Given the description of an element on the screen output the (x, y) to click on. 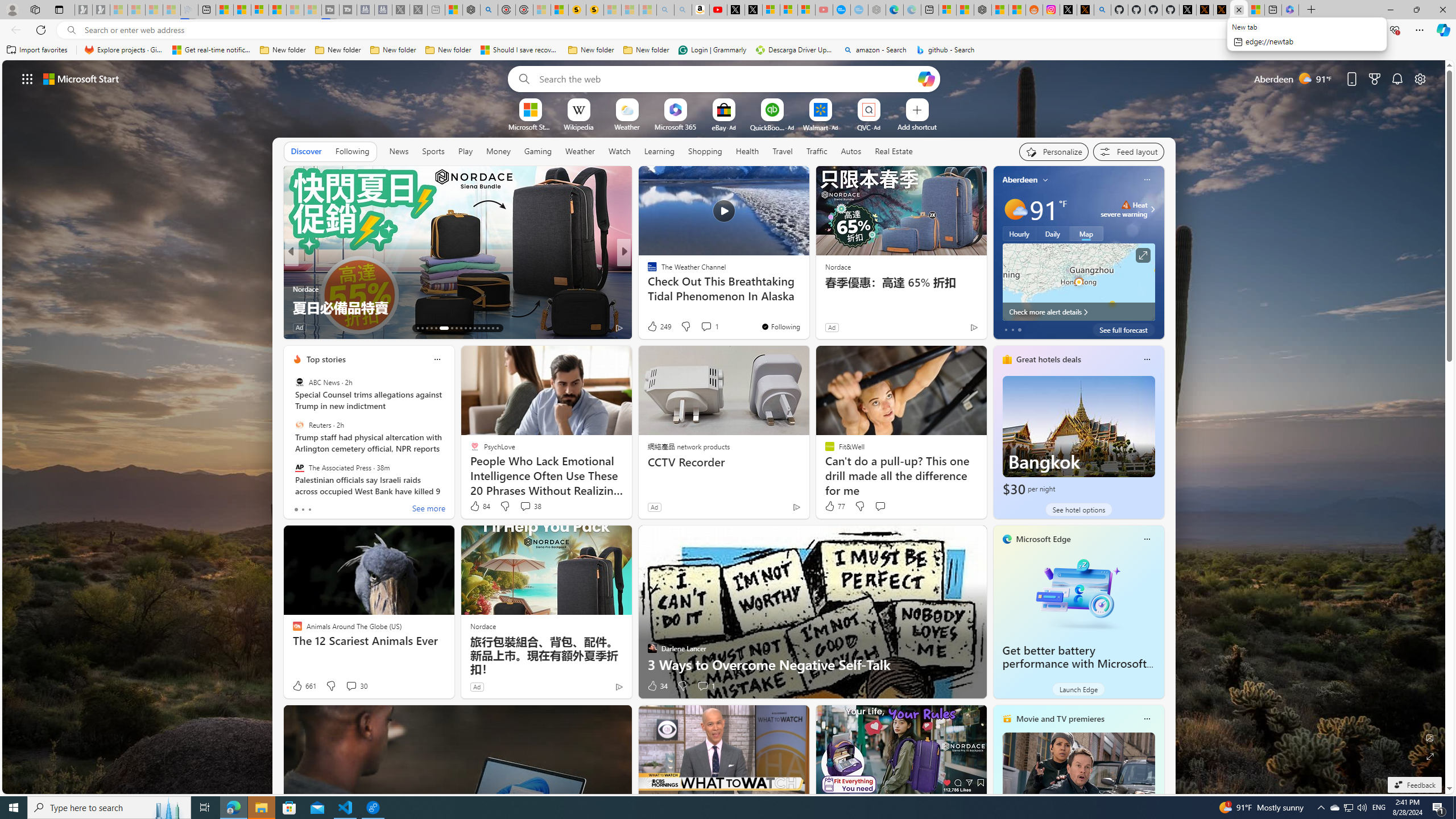
Shopping (705, 151)
Login | Grammarly (712, 49)
App bar (728, 29)
X - Sleeping (418, 9)
Enter your search term (726, 78)
poe - Search (489, 9)
Ad Choice (619, 686)
View comments 30 Comment (350, 685)
Map (1085, 233)
Fast Company (647, 270)
Descarga Driver Updater (794, 49)
Scripps News (647, 270)
